Given the description of an element on the screen output the (x, y) to click on. 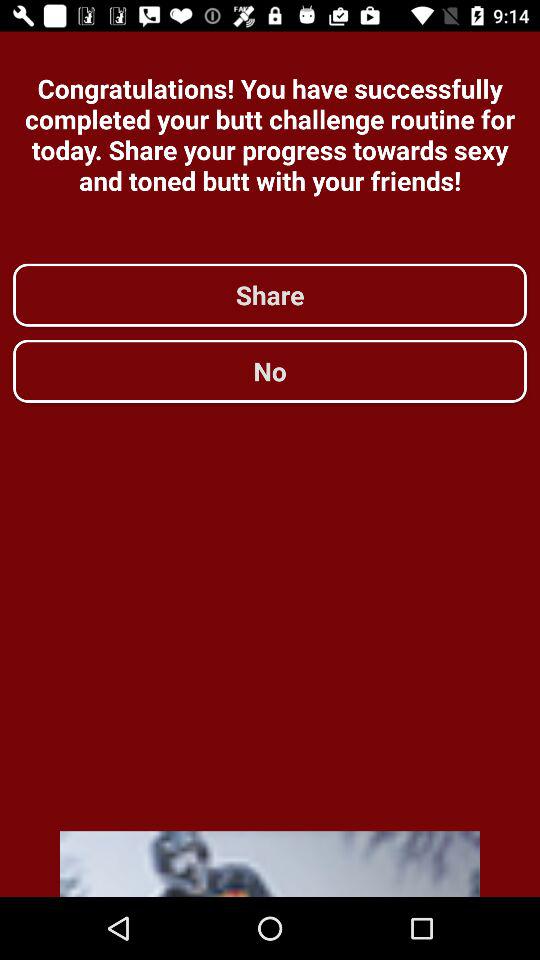
game page (270, 864)
